Given the description of an element on the screen output the (x, y) to click on. 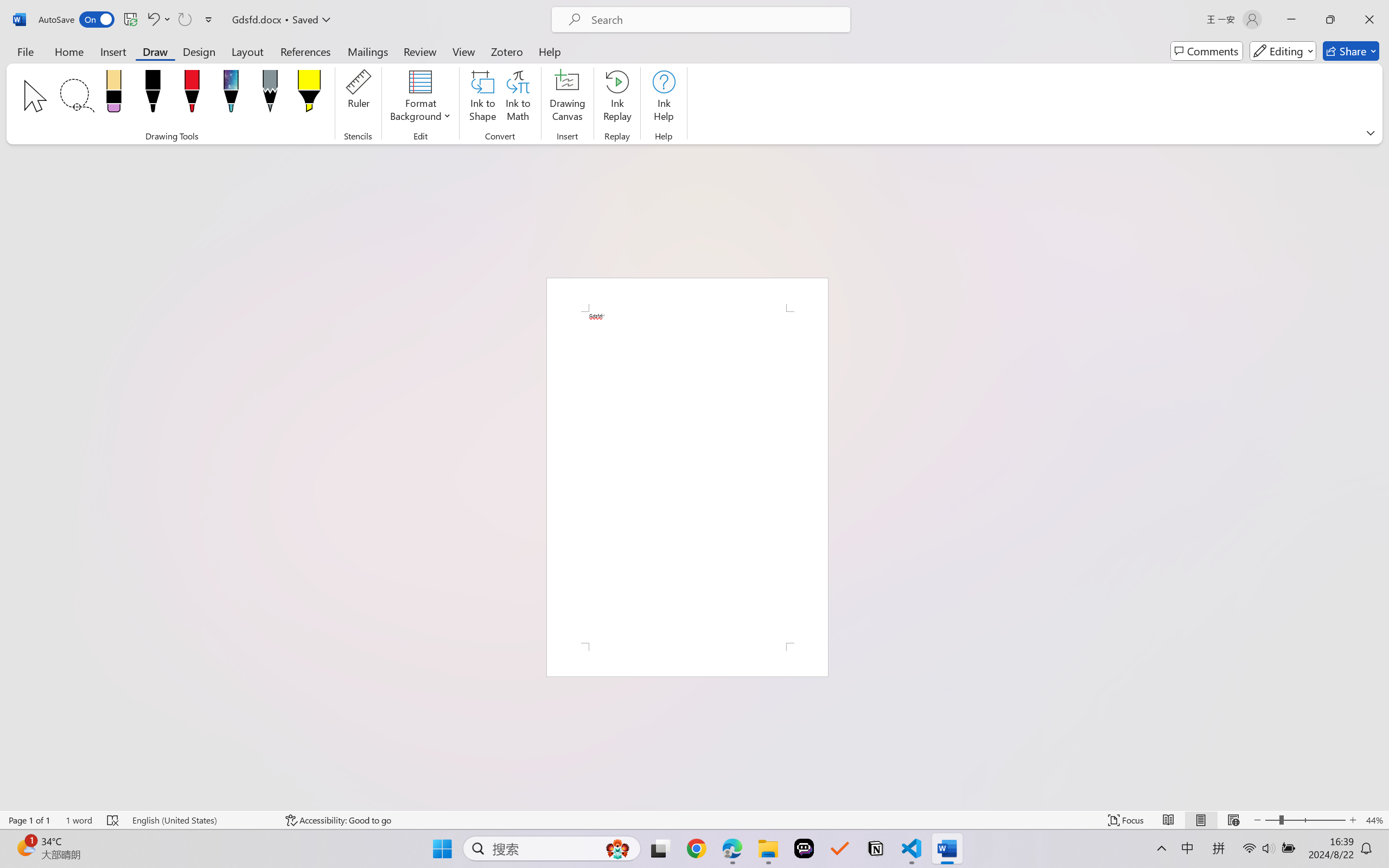
Task Manager - 1 running window (356, 855)
33% (663, 461)
